Given the description of an element on the screen output the (x, y) to click on. 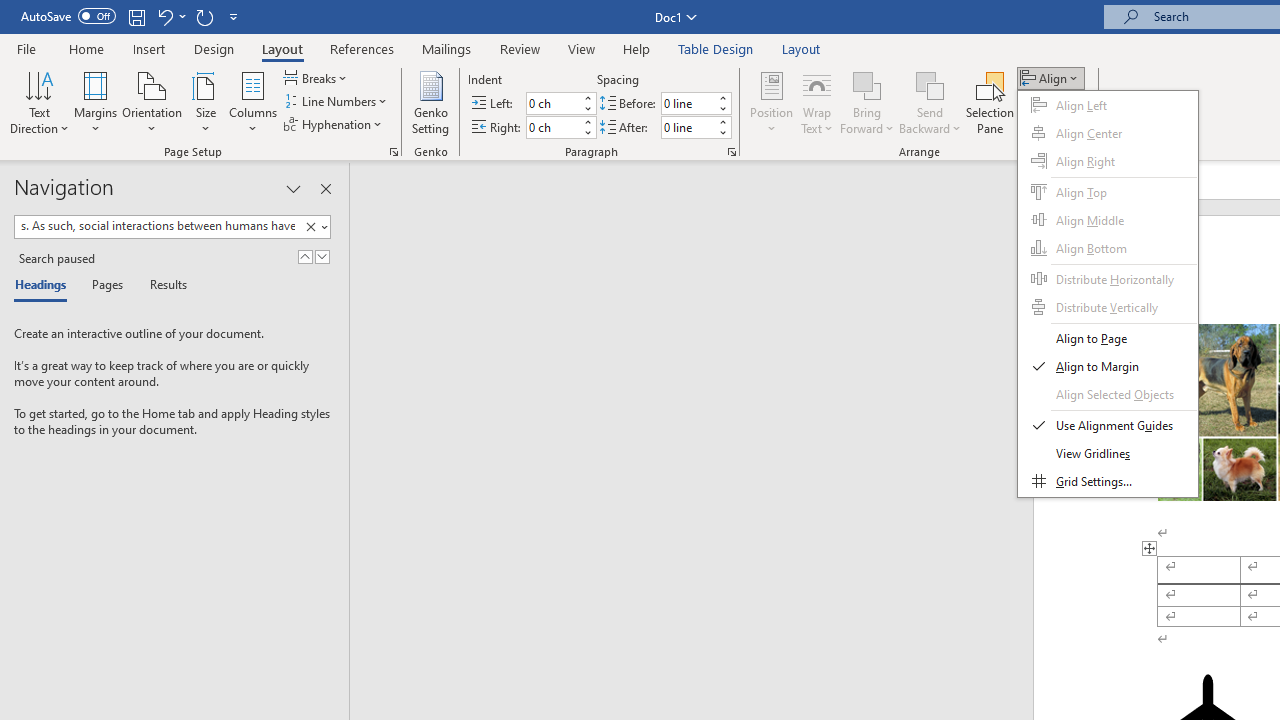
Margins (95, 102)
Page Setup... (393, 151)
Wrap Text (817, 102)
Size (205, 102)
Next Result (322, 256)
Text Direction (39, 102)
Breaks (317, 78)
